Given the description of an element on the screen output the (x, y) to click on. 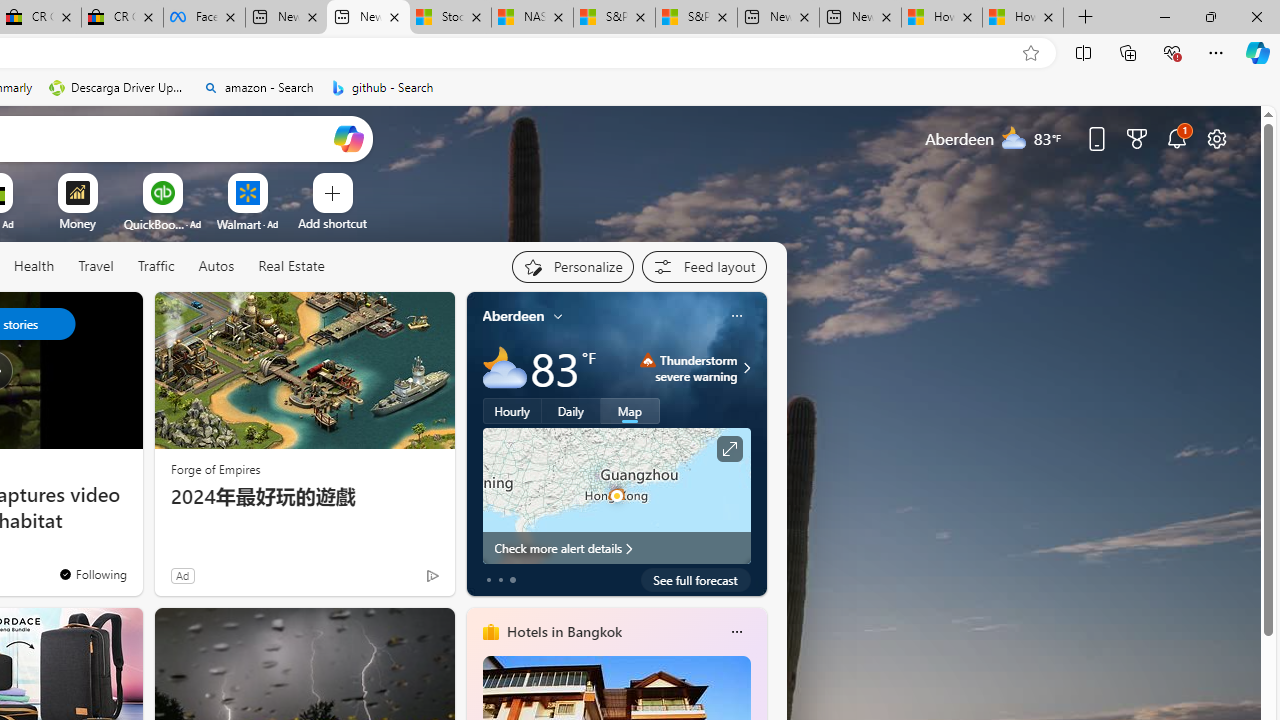
Page settings (1216, 138)
Larger map  (616, 495)
Facebook (203, 17)
Split screen (1083, 52)
Microsoft rewards (1137, 138)
Class: icon-img (736, 632)
hotels-header-icon (490, 632)
Travel (95, 267)
Click to see more information (728, 449)
Autos (215, 265)
Hotels in Bangkok (563, 631)
My location (558, 315)
Forge of Empires (215, 468)
Copilot (Ctrl+Shift+.) (1258, 52)
